Given the description of an element on the screen output the (x, y) to click on. 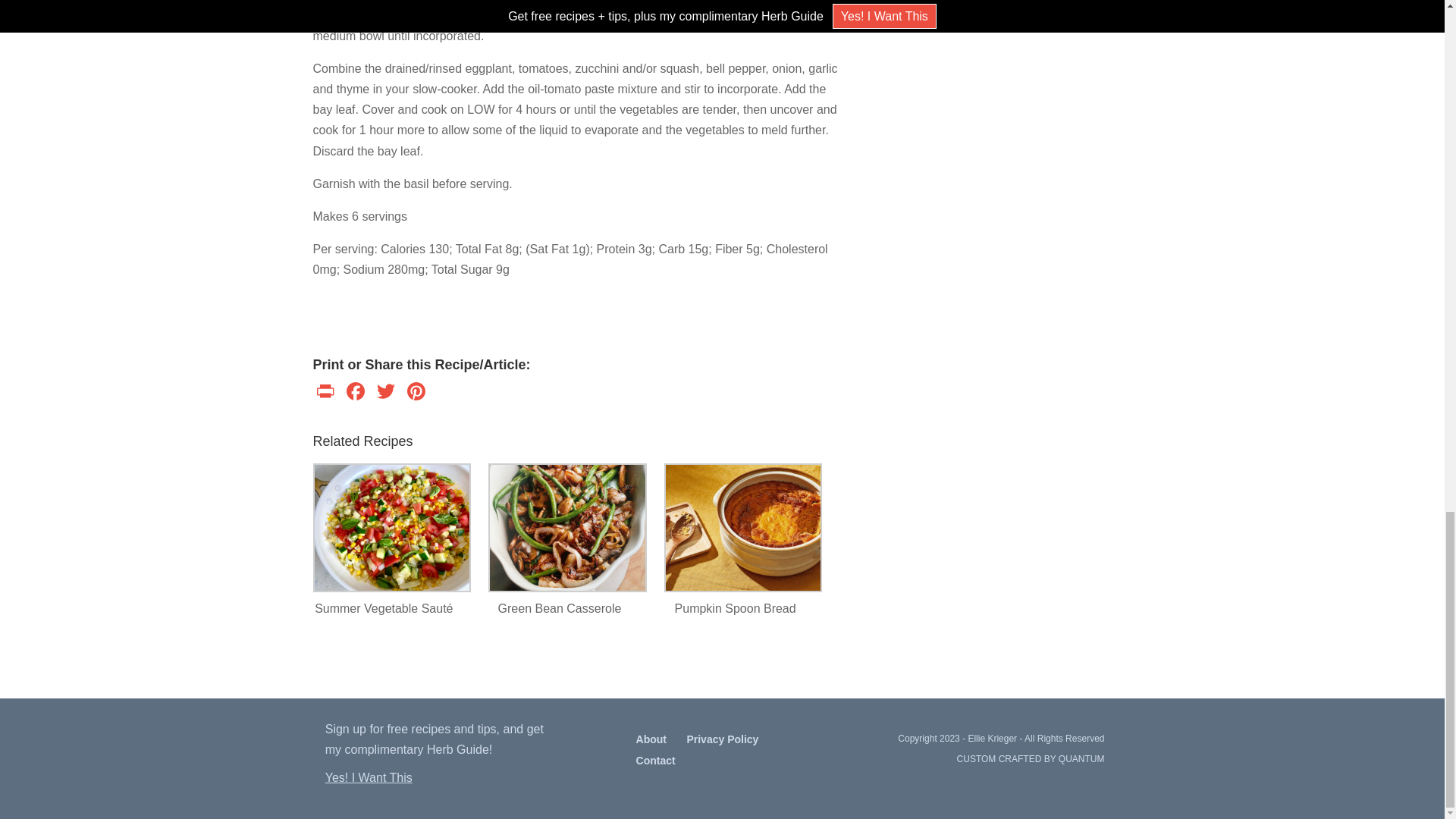
Pumpkin Spoon Bread (734, 608)
Contact (655, 760)
Facebook (354, 393)
Print (326, 393)
Yes! I Want This (368, 777)
About (651, 739)
Facebook (354, 393)
Green Bean Casserole (558, 608)
Pinterest (415, 393)
Privacy Policy (721, 739)
Twitter (384, 393)
Print (326, 393)
Twitter (384, 393)
CUSTOM CRAFTED BY QUANTUM (1030, 758)
Pinterest (415, 393)
